Given the description of an element on the screen output the (x, y) to click on. 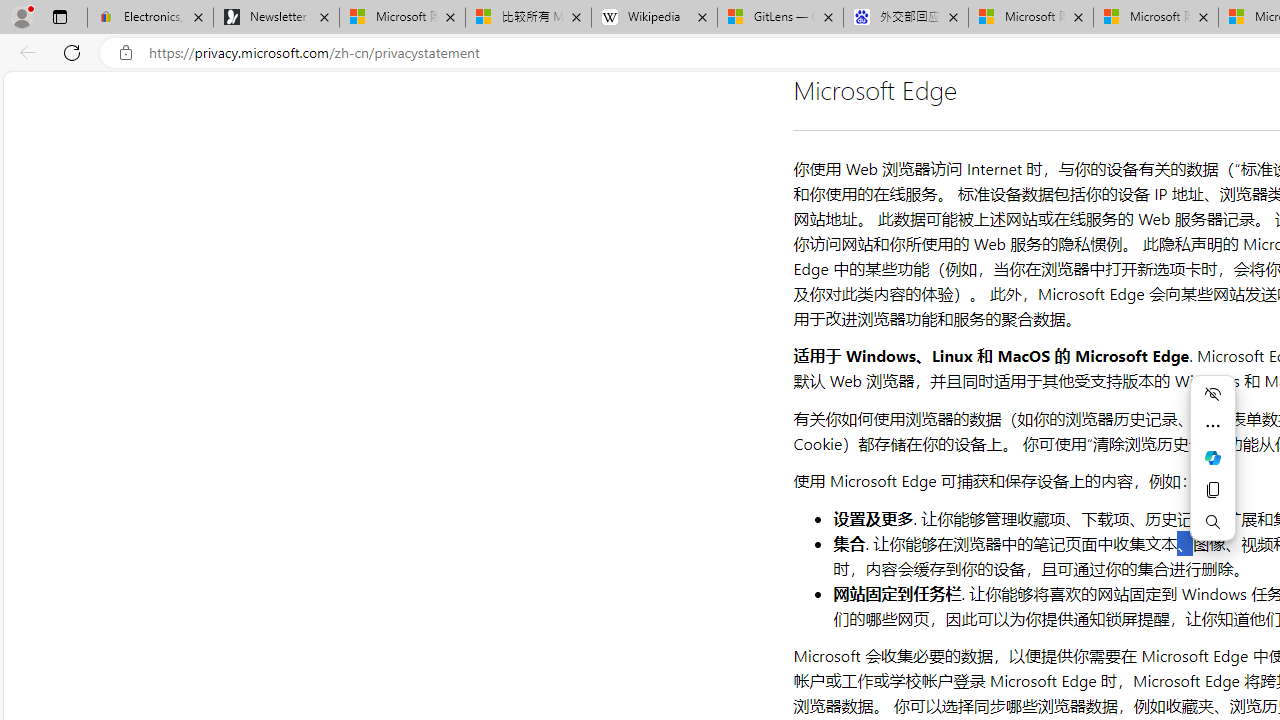
Mini menu on text selection (1212, 457)
Copy (1212, 489)
Hide menu (1212, 393)
Ask Copilot (1212, 457)
